Given the description of an element on the screen output the (x, y) to click on. 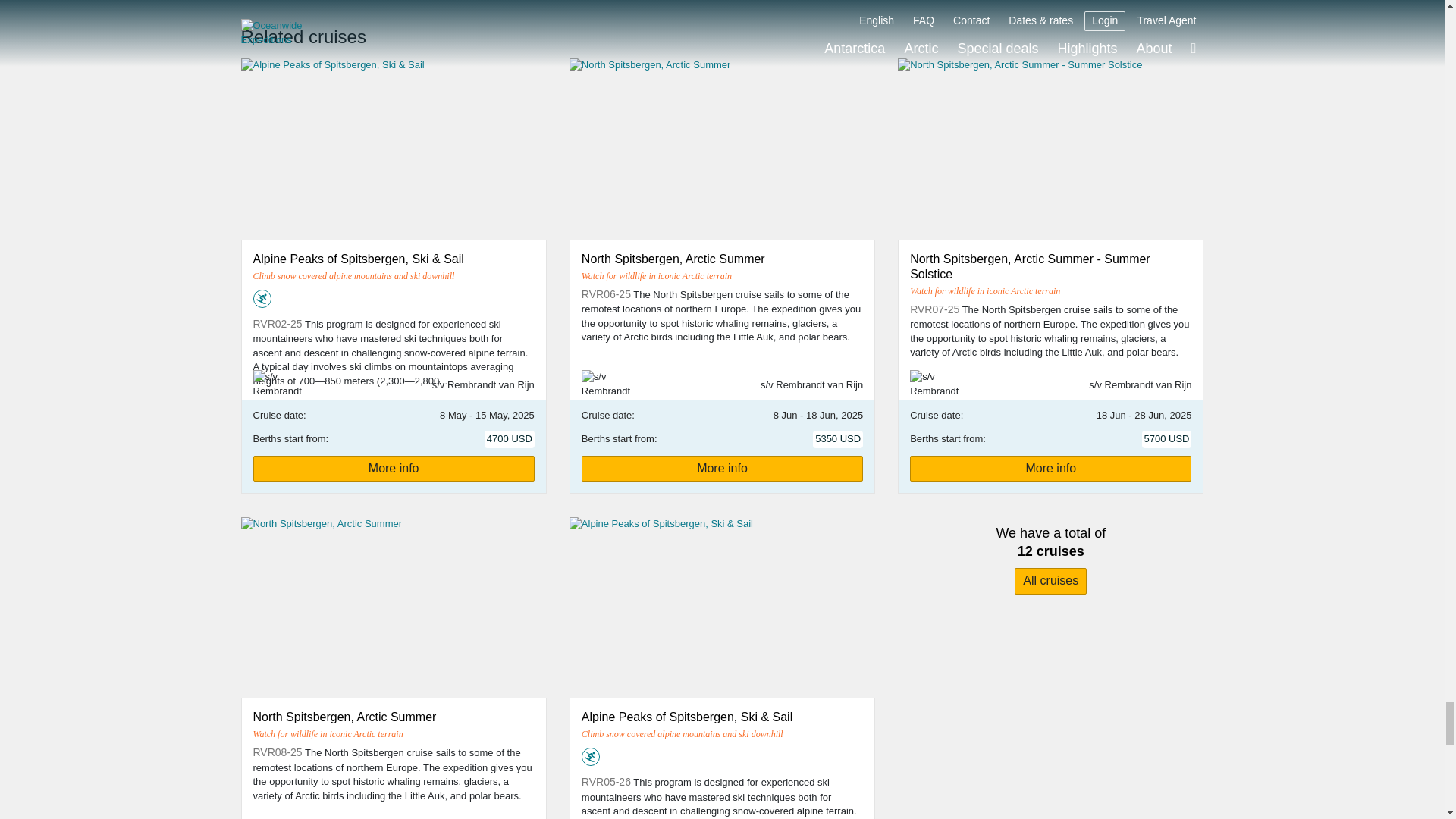
Ski Mountaineering (589, 756)
North Spitsbergen, Arctic Summer (649, 65)
Ski Mountaineering (261, 298)
North Spitsbergen, Arctic Summer - Summer Solstice (1019, 65)
North Spitsbergen, Arctic Summer (322, 523)
